Given the description of an element on the screen output the (x, y) to click on. 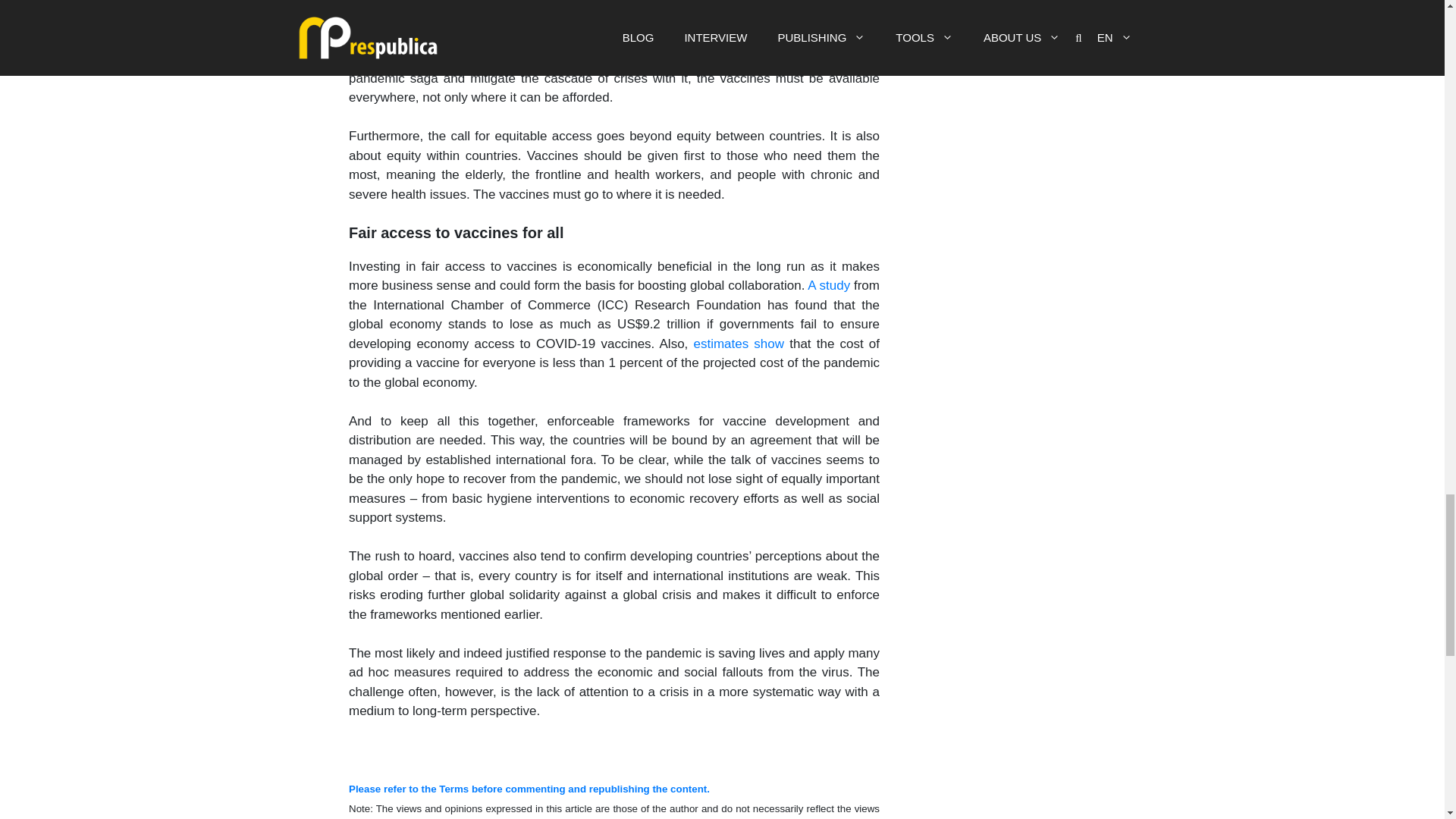
estimates show (738, 343)
A study (829, 285)
